Given the description of an element on the screen output the (x, y) to click on. 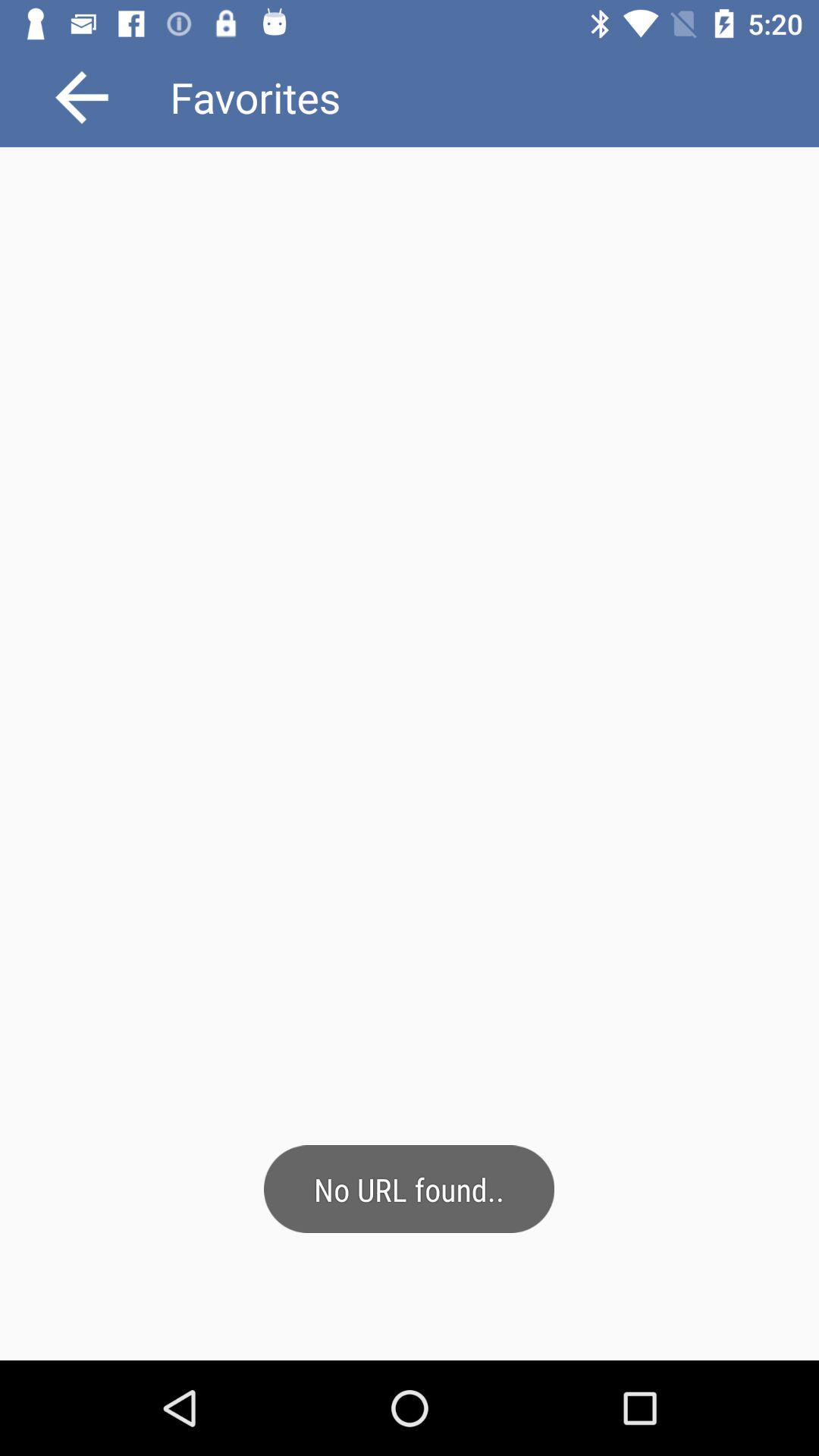
go back (81, 97)
